Given the description of an element on the screen output the (x, y) to click on. 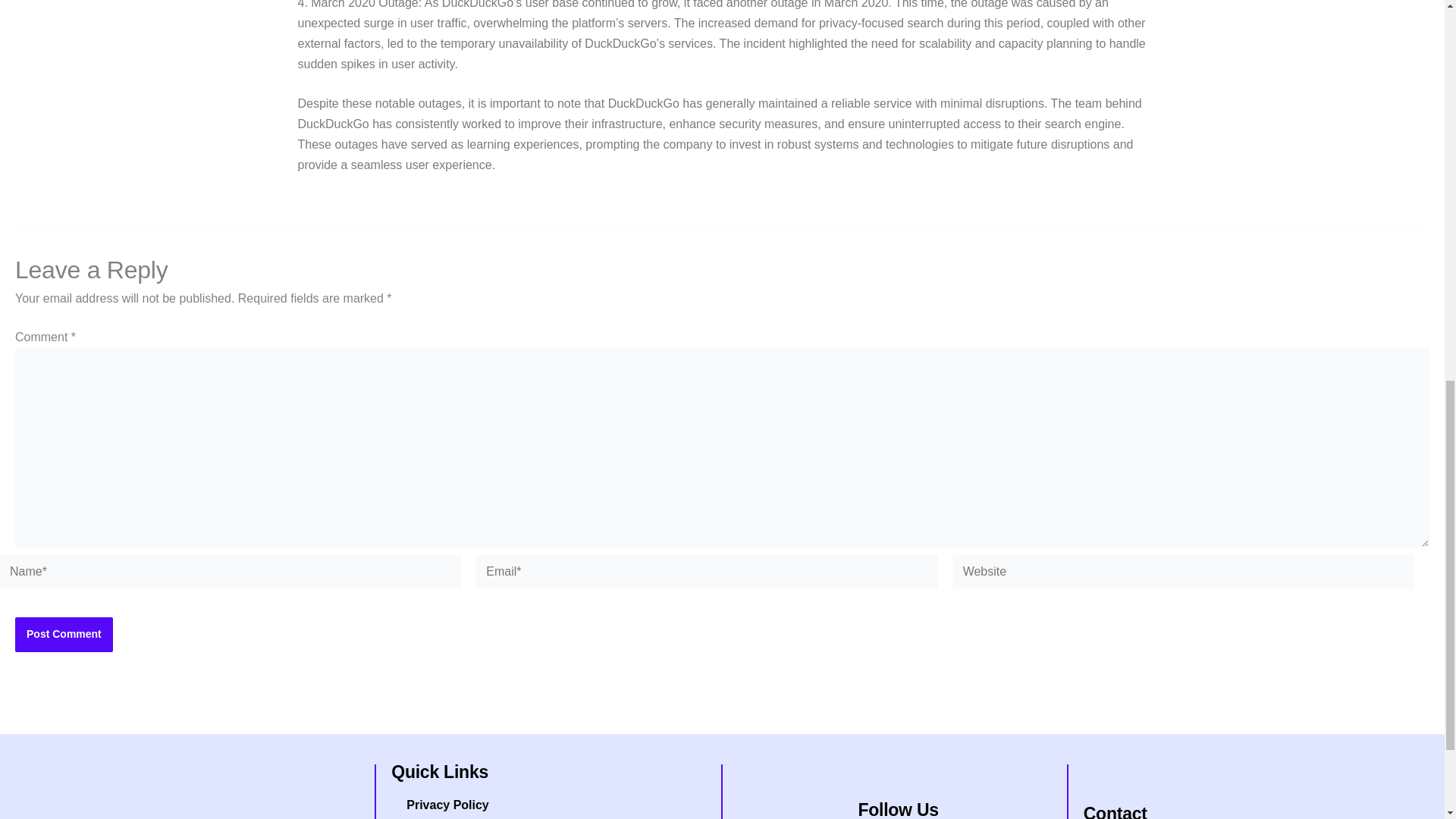
Privacy Policy (552, 803)
Post Comment (63, 634)
Post Comment (63, 634)
